Given the description of an element on the screen output the (x, y) to click on. 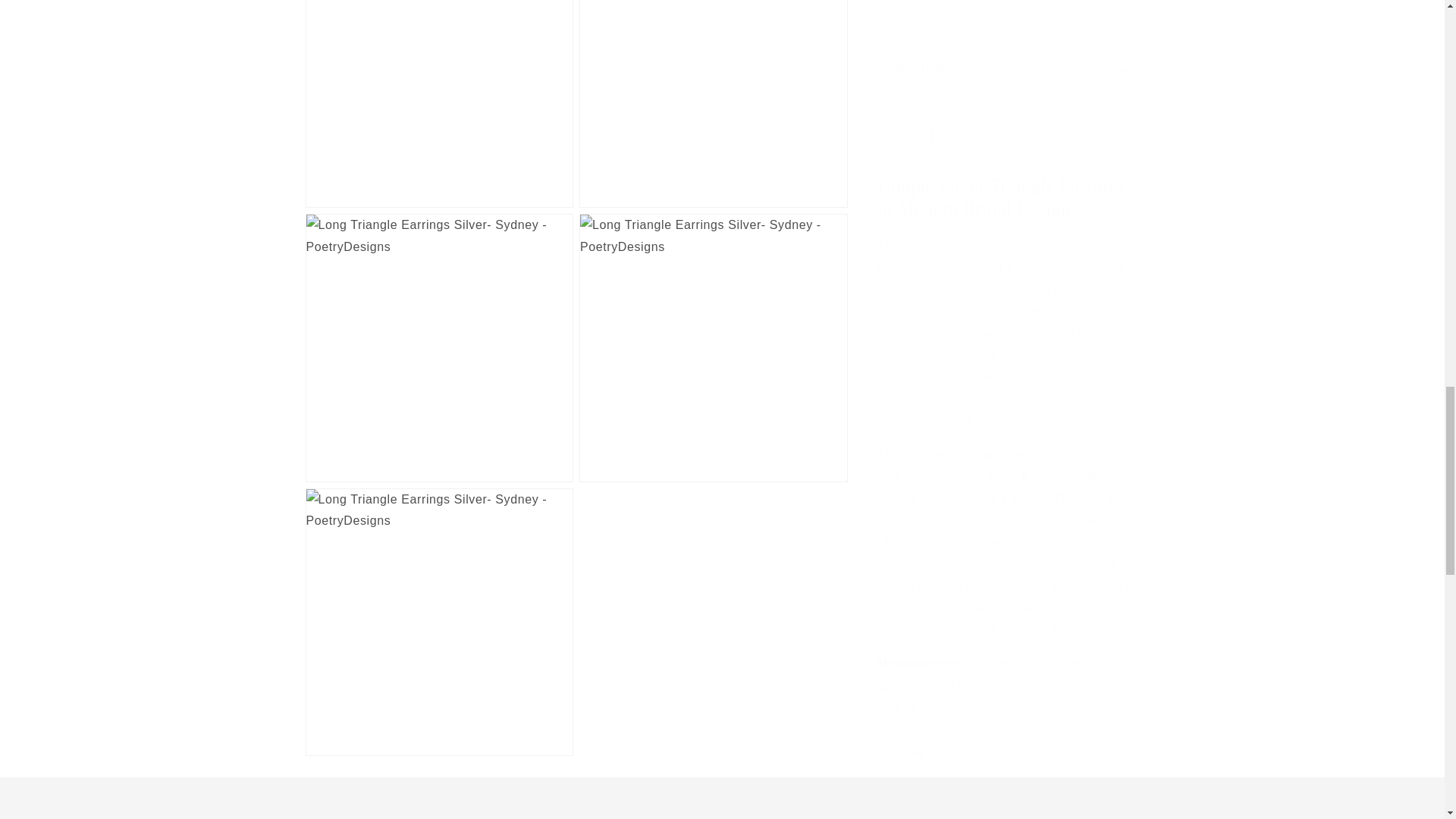
Open media 9 in modal (713, 96)
Open media 12 in modal (438, 607)
Open media 11 in modal (713, 332)
Open media 8 in modal (438, 96)
Open media 10 in modal (438, 332)
